Given the description of an element on the screen output the (x, y) to click on. 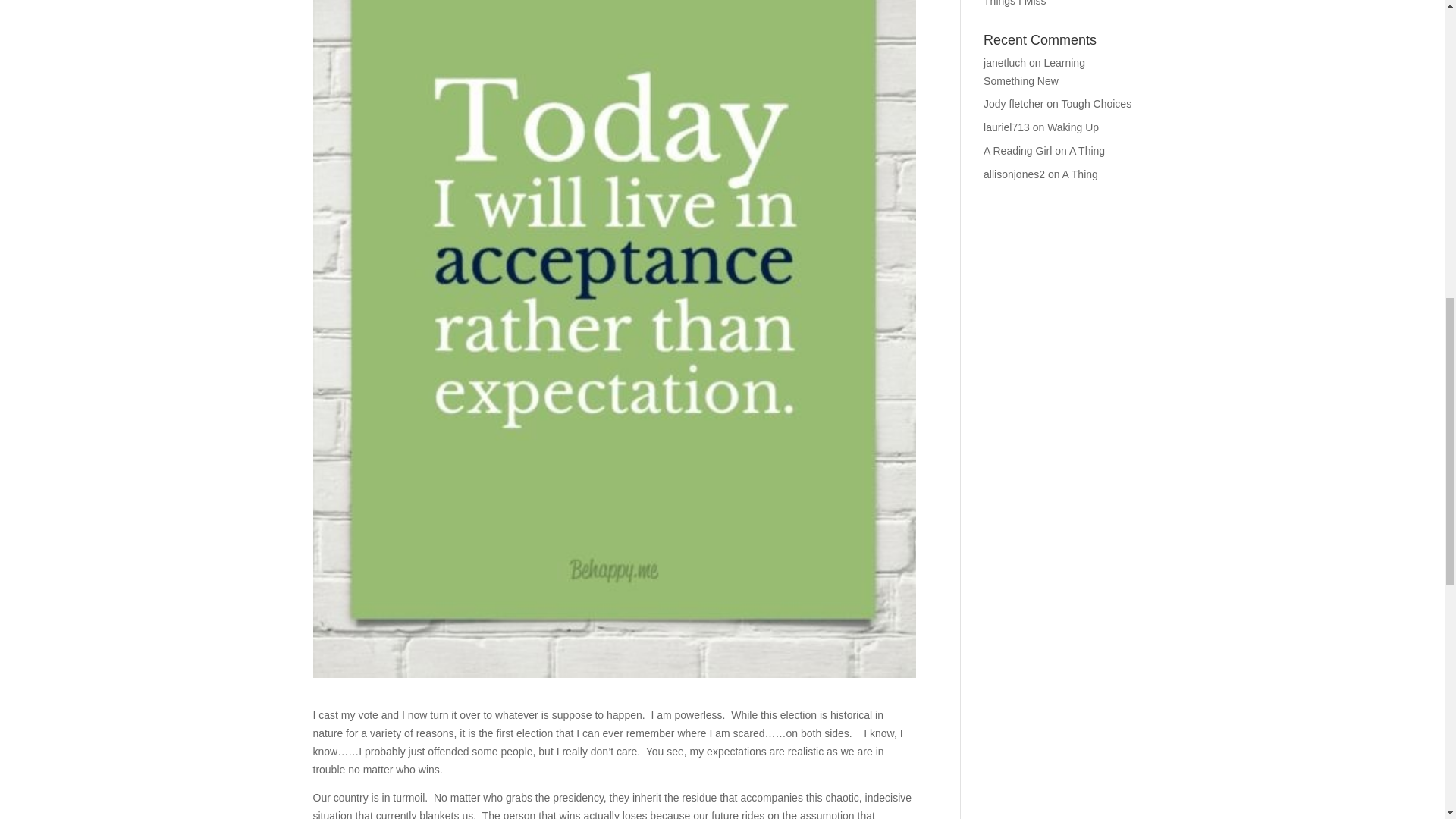
Learning Something New (1034, 71)
Waking Up (1072, 127)
A Thing (1086, 150)
lauriel713 (1006, 127)
A Reading Girl (1017, 150)
allisonjones2 (1014, 174)
Things I Miss (1014, 3)
A Thing (1079, 174)
Tough Choices (1096, 103)
